Given the description of an element on the screen output the (x, y) to click on. 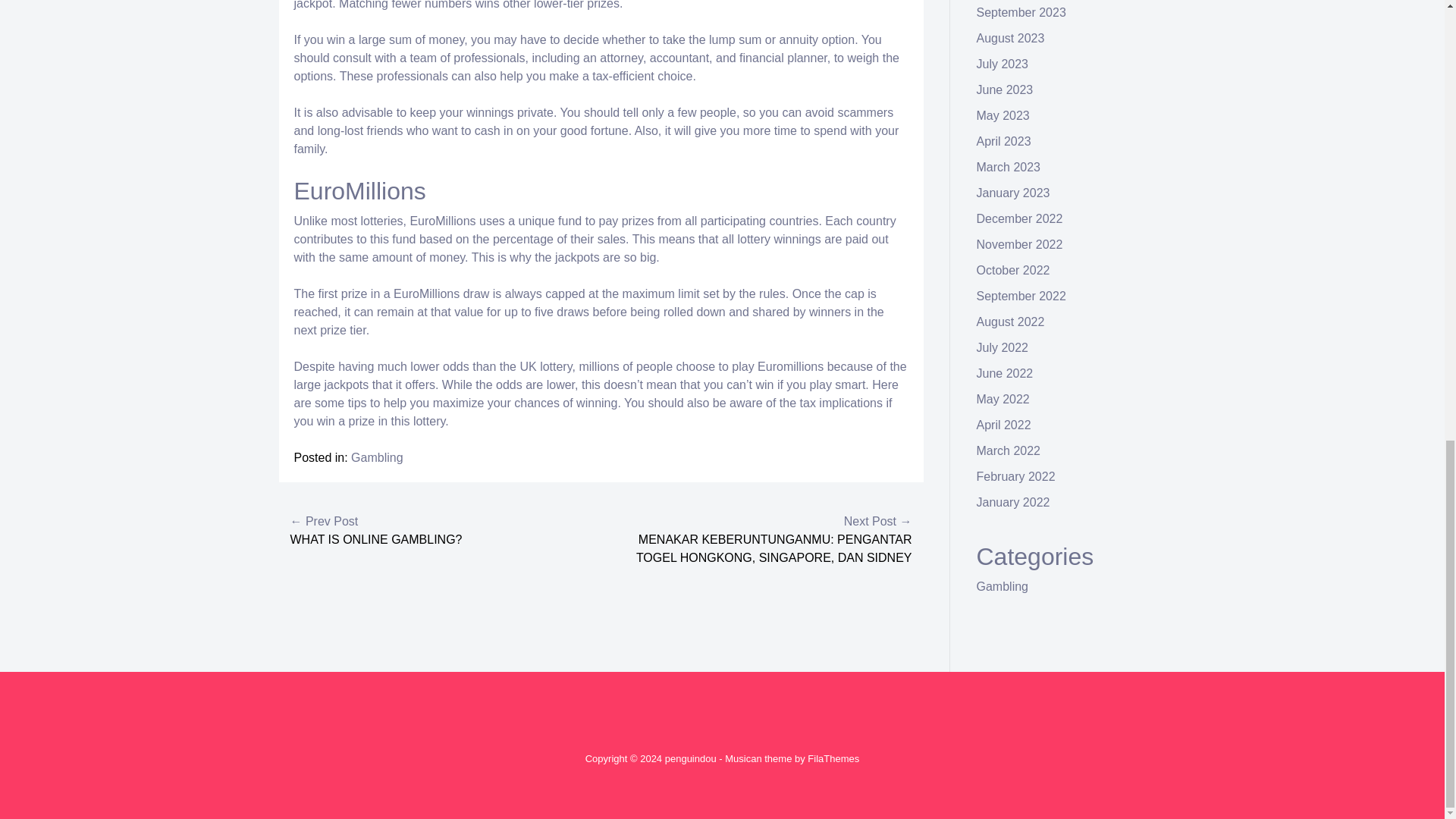
August 2022 (1010, 321)
December 2022 (1019, 218)
September 2022 (1020, 295)
March 2023 (1008, 166)
May 2023 (1002, 115)
August 2023 (1010, 38)
April 2023 (1003, 141)
July 2023 (1002, 63)
penguindou (690, 758)
January 2023 (1012, 192)
